Given the description of an element on the screen output the (x, y) to click on. 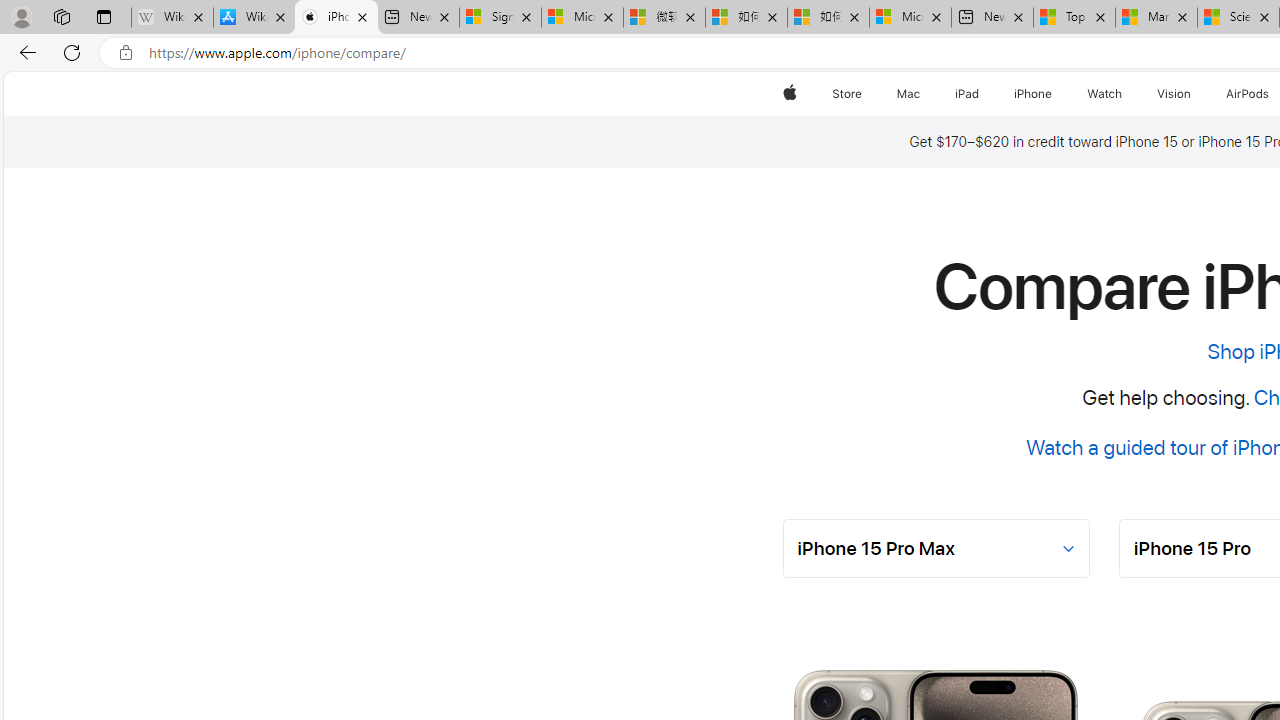
Class: globalnav-submenu-trigger-item (1195, 93)
iPhone (1033, 93)
Store (846, 93)
Vision (1174, 93)
Apple (789, 93)
iPhone (1033, 93)
iPad (965, 93)
